Given the description of an element on the screen output the (x, y) to click on. 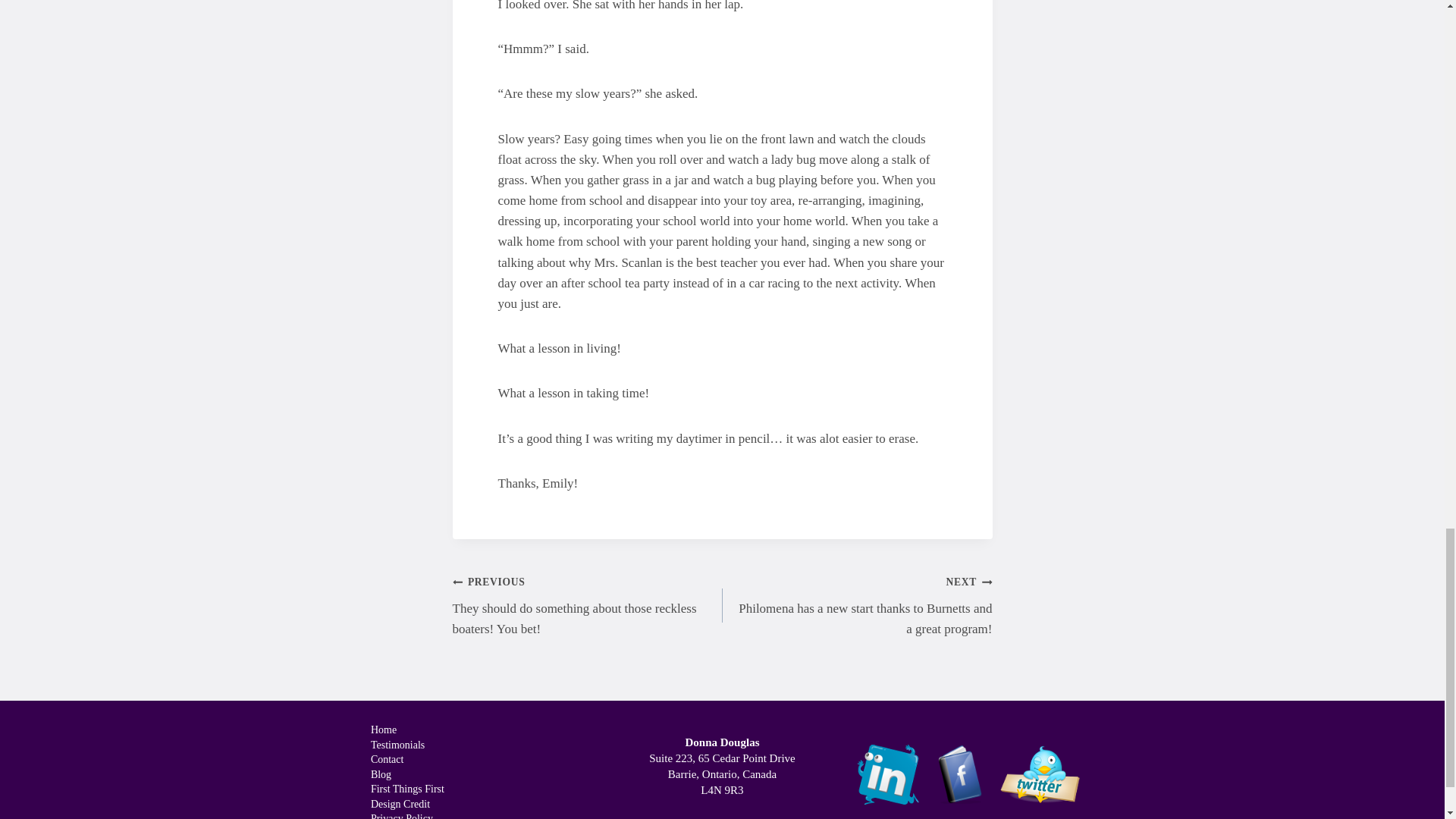
Contact (406, 760)
Privacy Policy (406, 815)
Home (406, 730)
Blog (406, 774)
First Things First (406, 789)
Design Credit (406, 804)
Testimonials (406, 744)
